Given the description of an element on the screen output the (x, y) to click on. 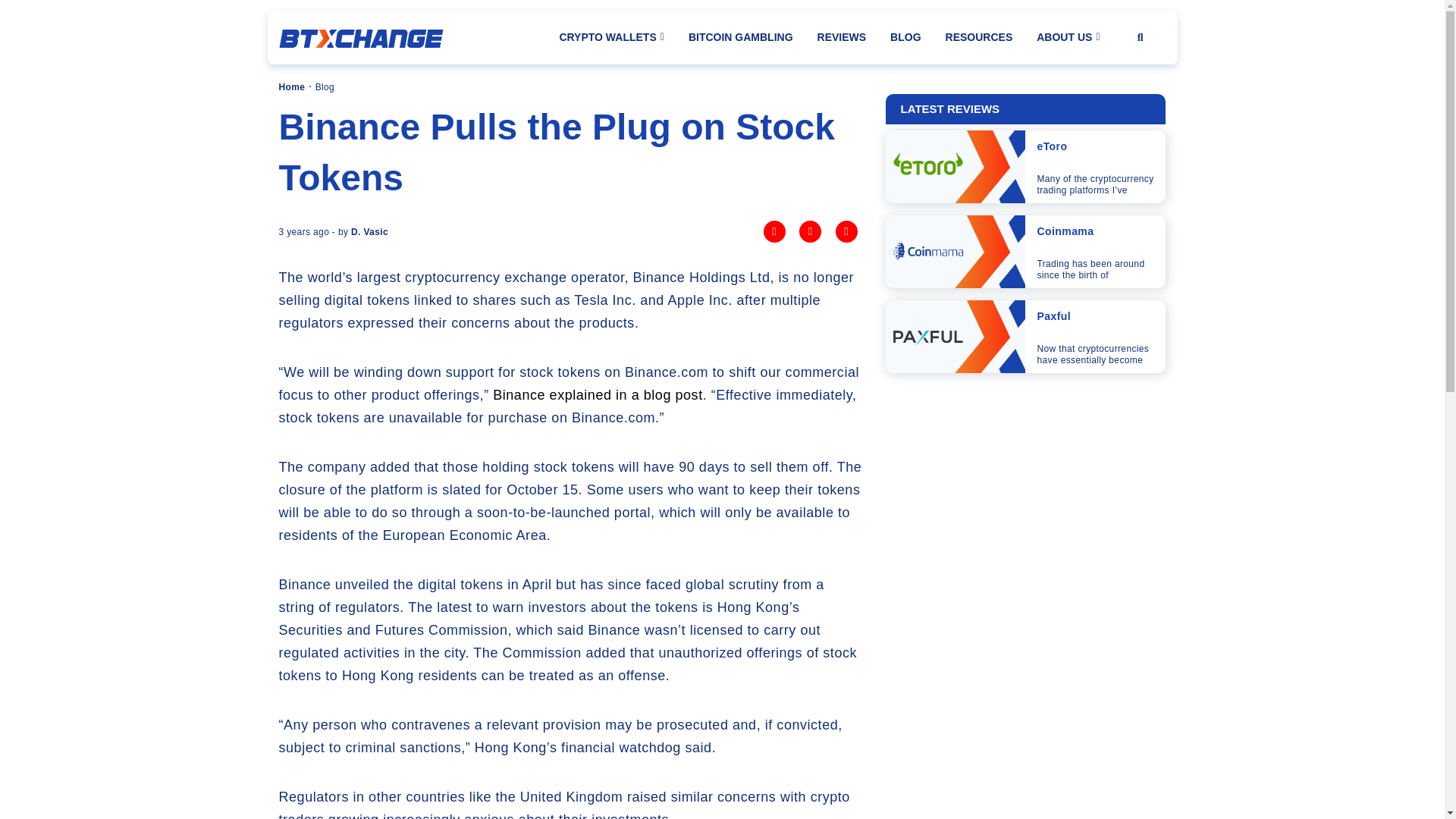
RESOURCES (978, 36)
Home (292, 86)
Paxful (1095, 325)
Blog (324, 86)
Click to send this page to Twitter! (845, 230)
Coinmama (1095, 239)
REVIEWS (841, 36)
BLOG (904, 36)
BITCOIN GAMBLING (740, 36)
Binance explained in a blog post (597, 394)
